Given the description of an element on the screen output the (x, y) to click on. 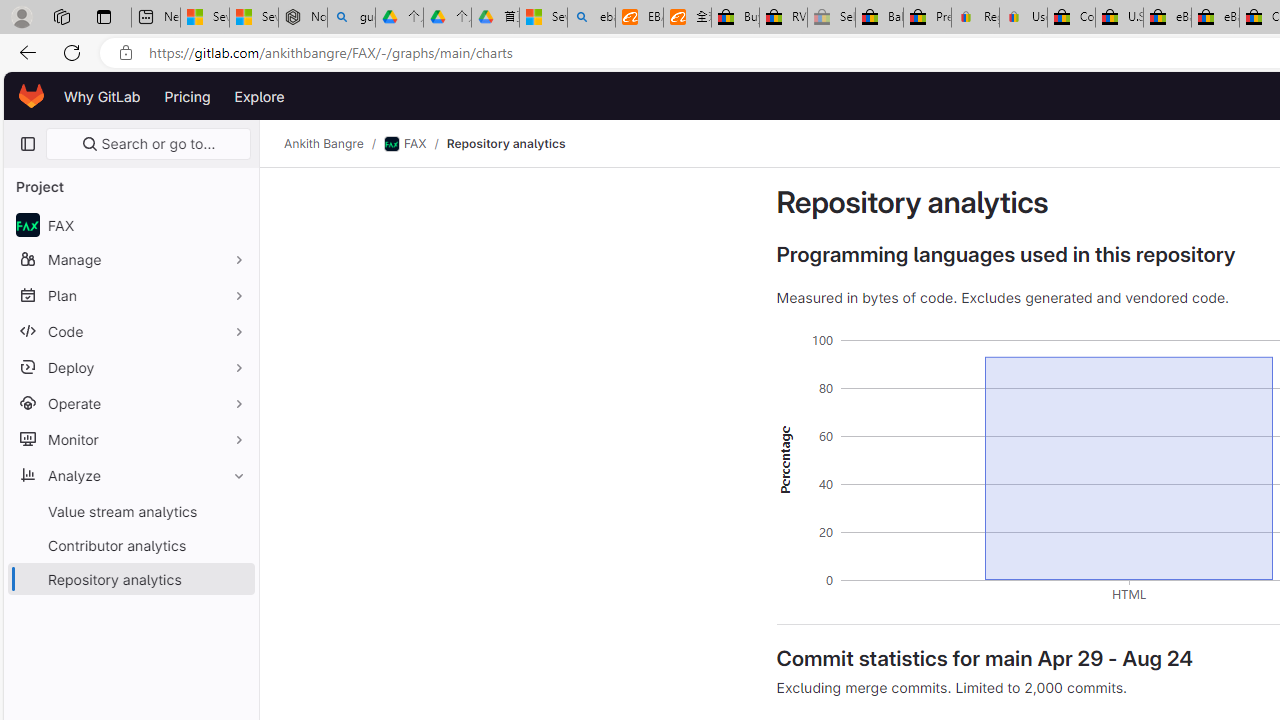
Analyze (130, 475)
